Given the description of an element on the screen output the (x, y) to click on. 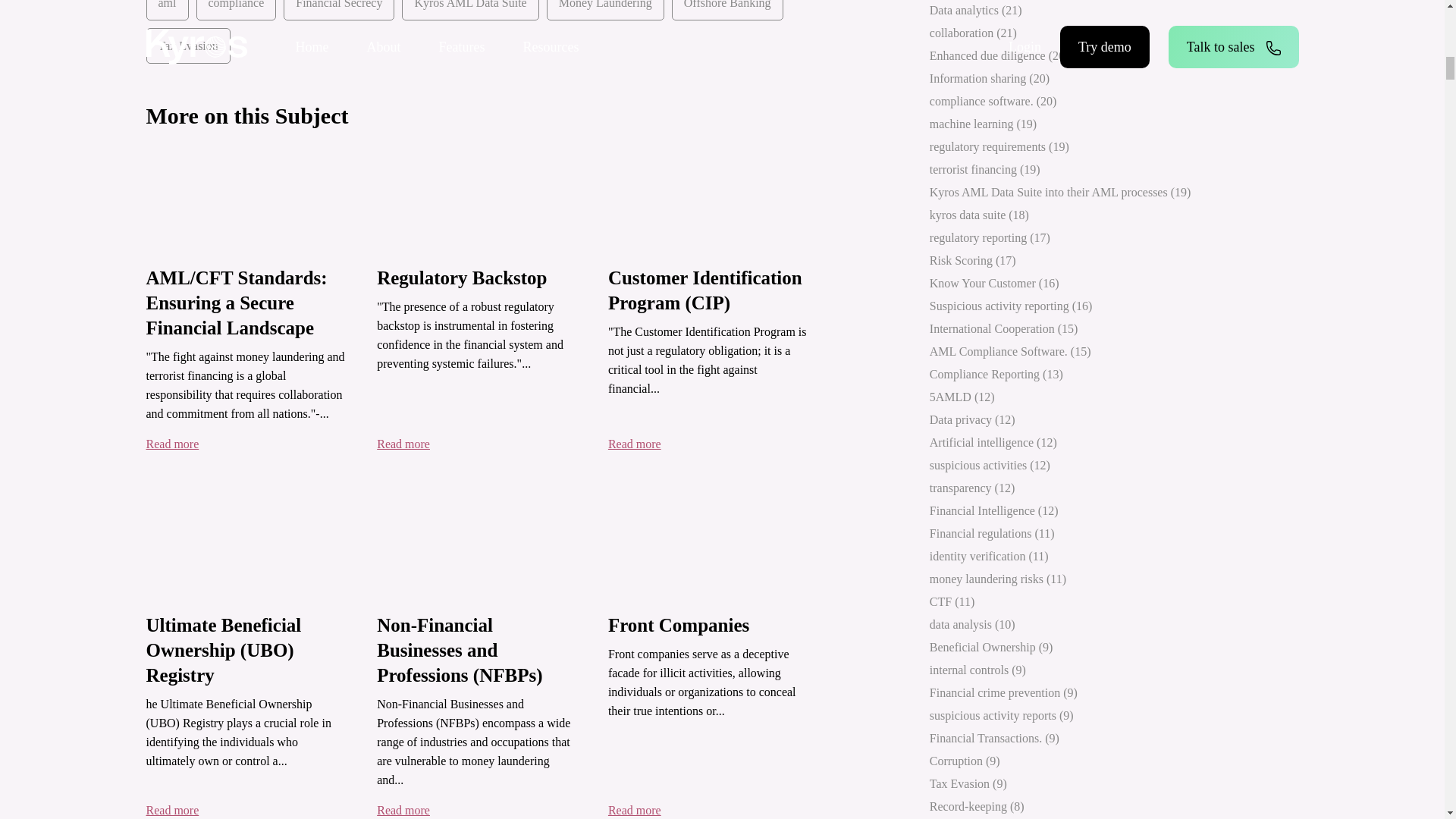
Kyros AML Data Suite (469, 10)
Read more (403, 443)
compliance (235, 10)
Regulatory Backstop (462, 277)
Tax Evasion (187, 45)
Offshore Banking (727, 10)
Money Laundering (605, 10)
aml (166, 10)
Read more (171, 443)
Financial Secrecy (338, 10)
